Given the description of an element on the screen output the (x, y) to click on. 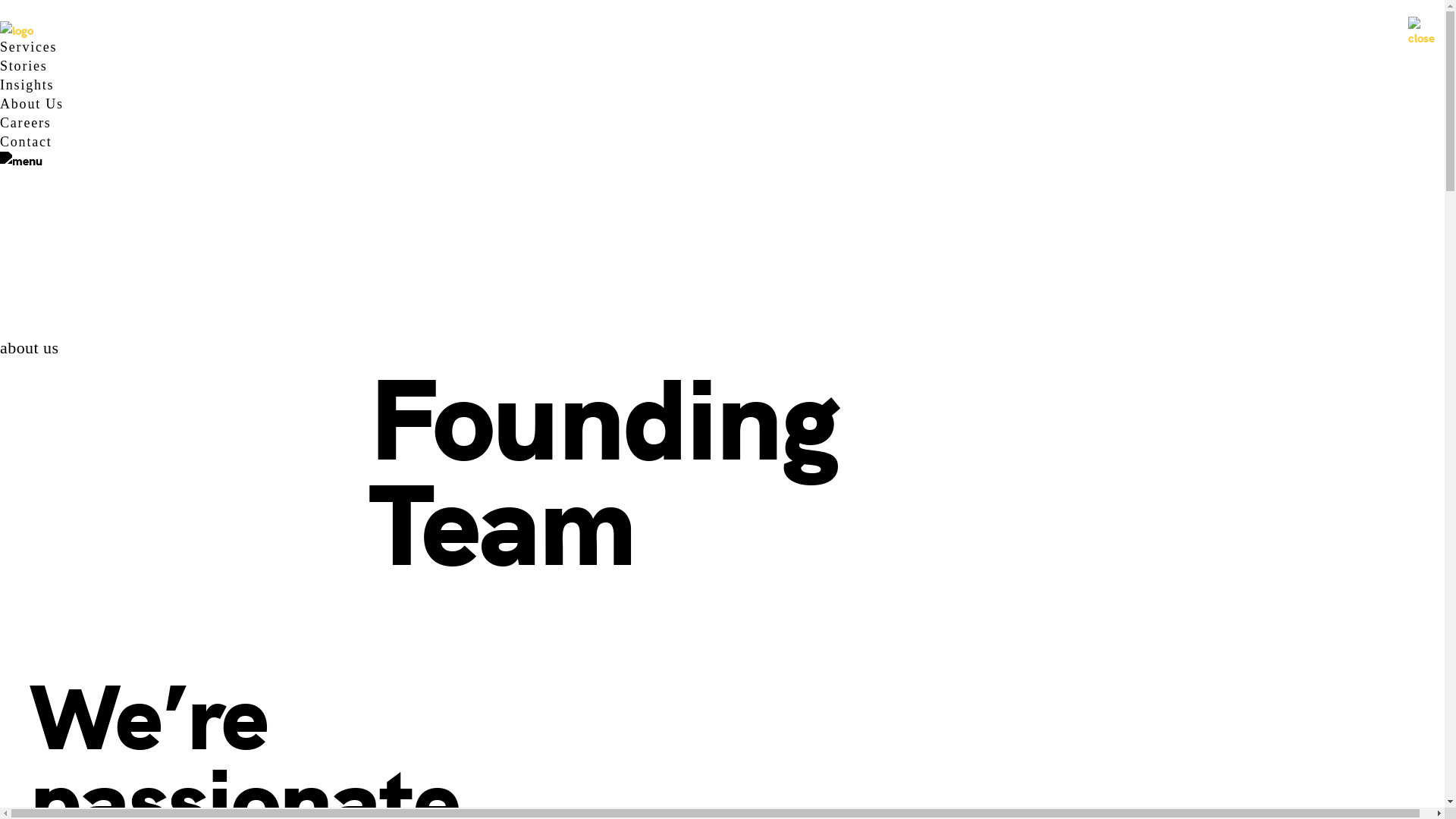
Stories (24, 66)
Insights (26, 85)
Contact (26, 142)
Careers (25, 123)
About Us (32, 104)
Services (28, 47)
